Given the description of an element on the screen output the (x, y) to click on. 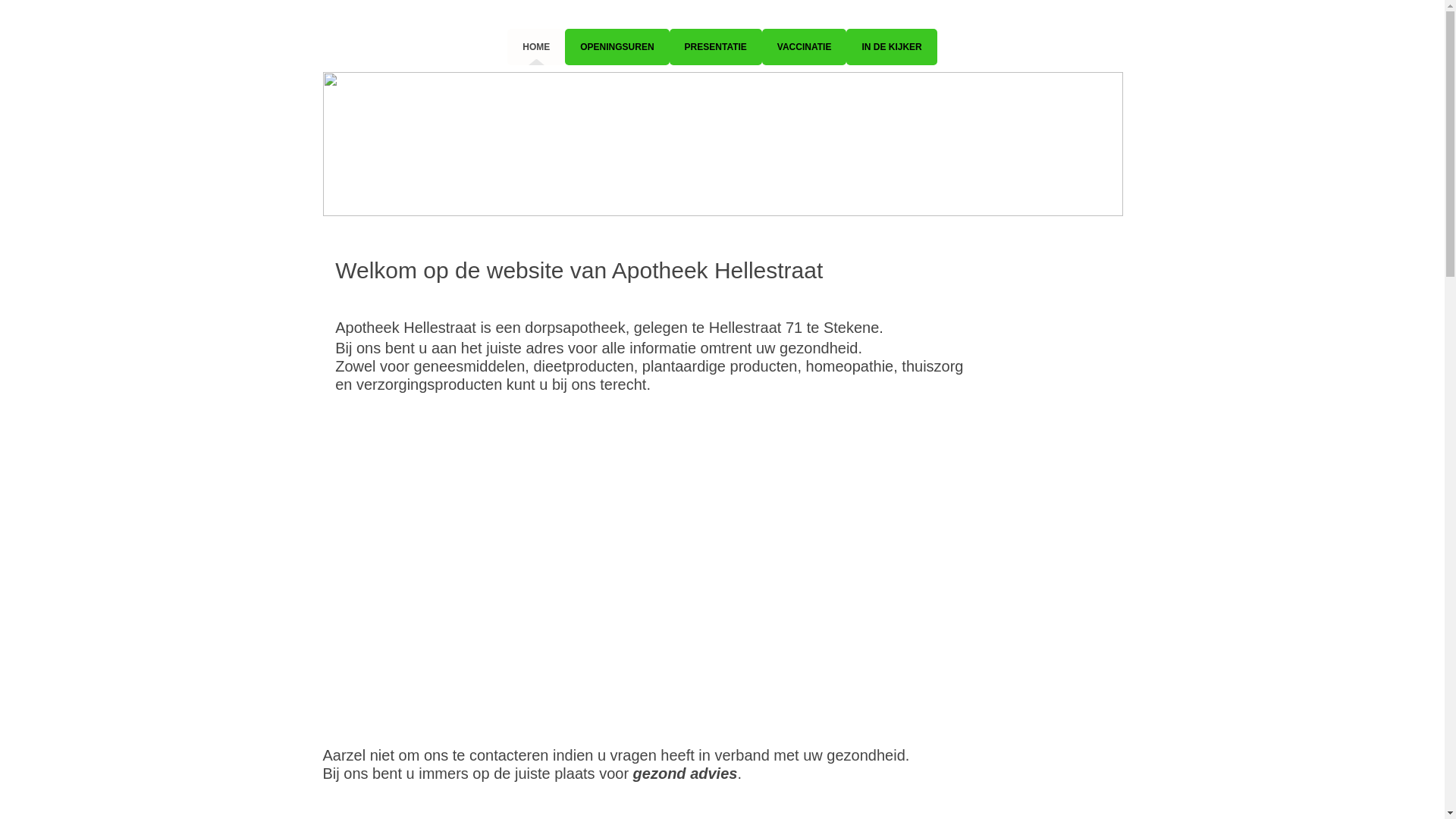
PRESENTATIE Element type: text (715, 46)
IN DE KIJKER Element type: text (891, 46)
HOME Element type: text (535, 46)
VACCINATIE Element type: text (804, 46)
OPENINGSUREN Element type: text (616, 46)
